Given the description of an element on the screen output the (x, y) to click on. 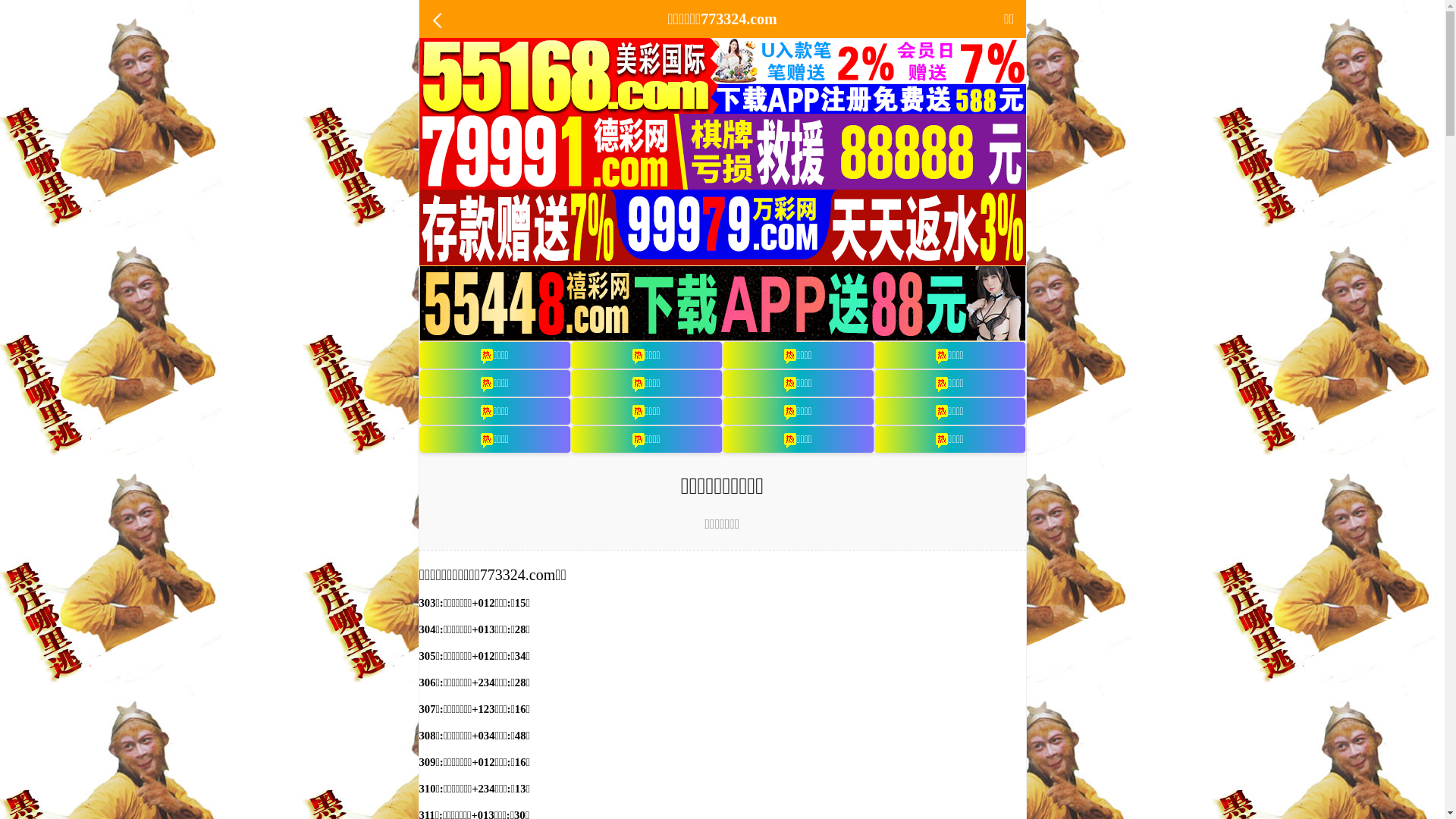
  Element type: text (437, 18)
